Given the description of an element on the screen output the (x, y) to click on. 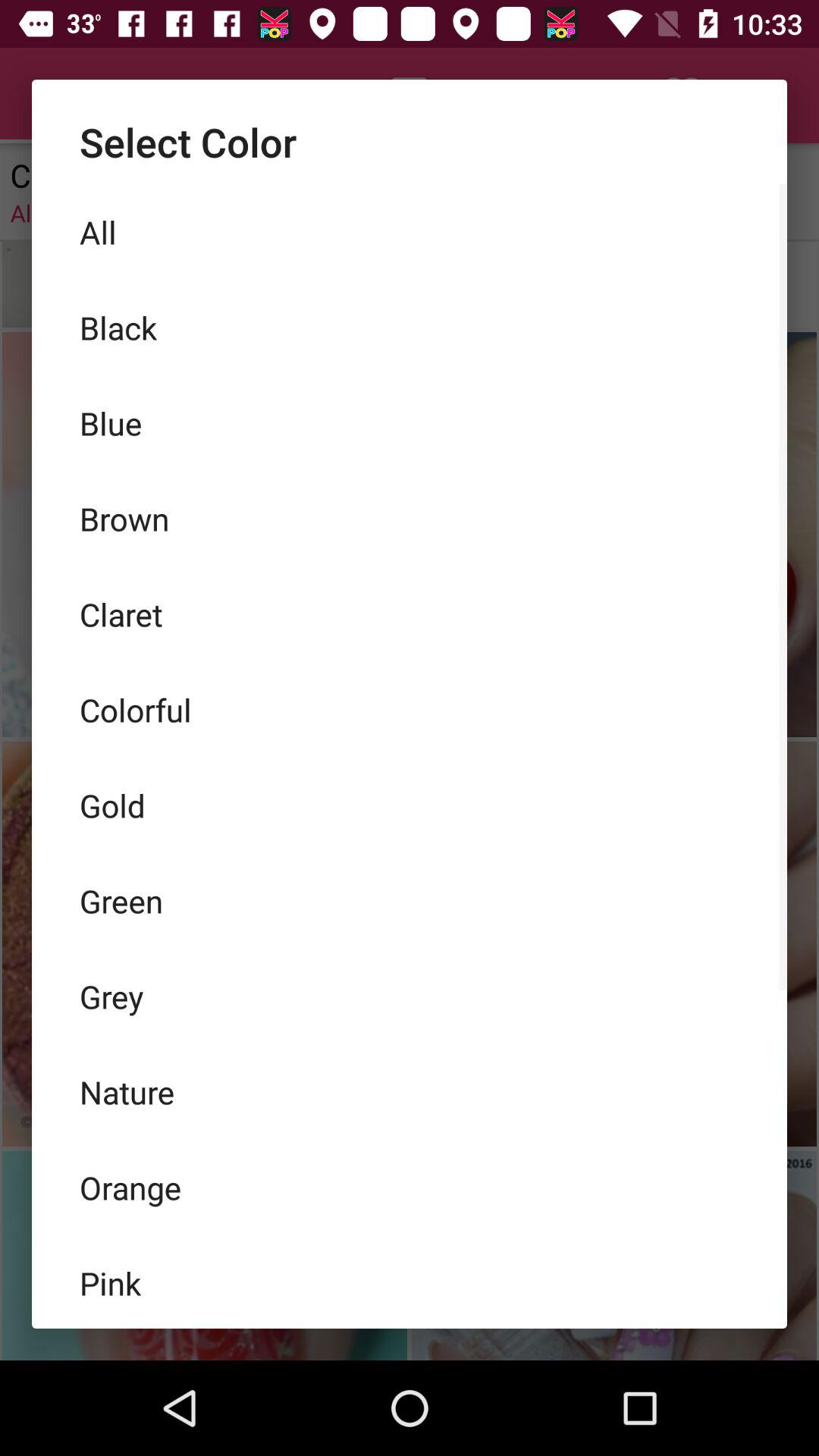
click the item above blue icon (409, 327)
